Given the description of an element on the screen output the (x, y) to click on. 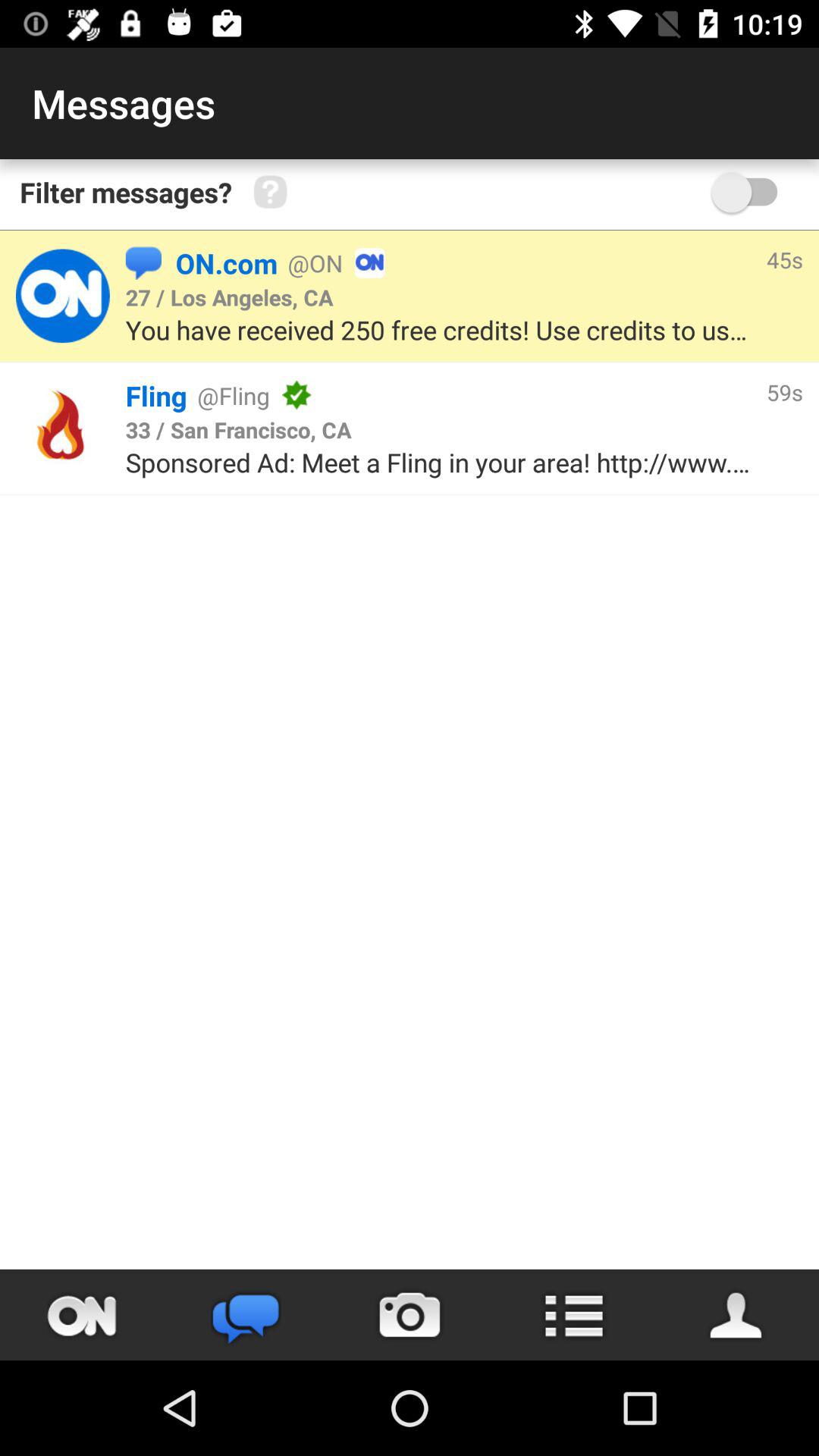
tap item next to 59s (238, 429)
